Given the description of an element on the screen output the (x, y) to click on. 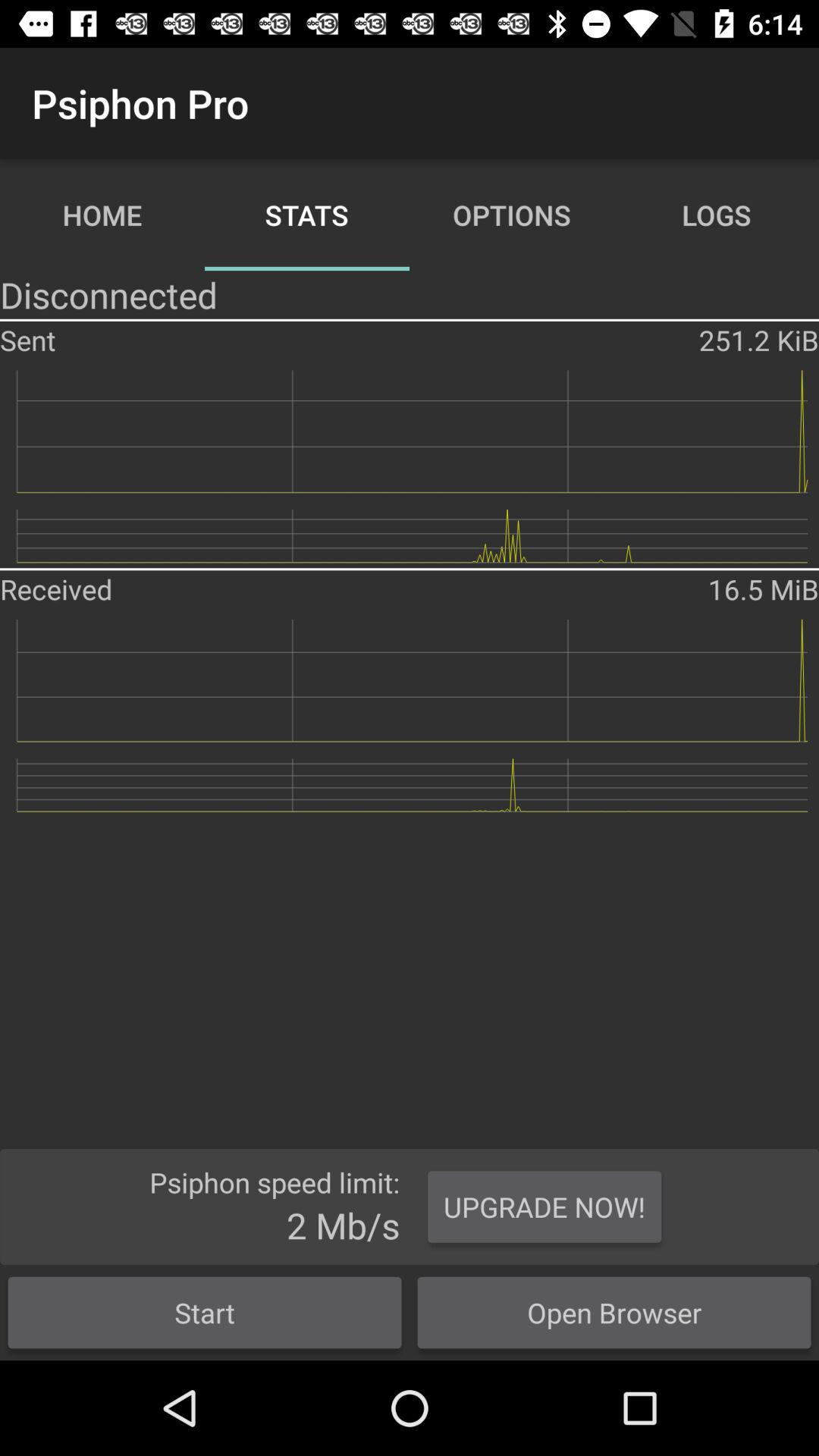
turn off item at the bottom right corner (614, 1312)
